Given the description of an element on the screen output the (x, y) to click on. 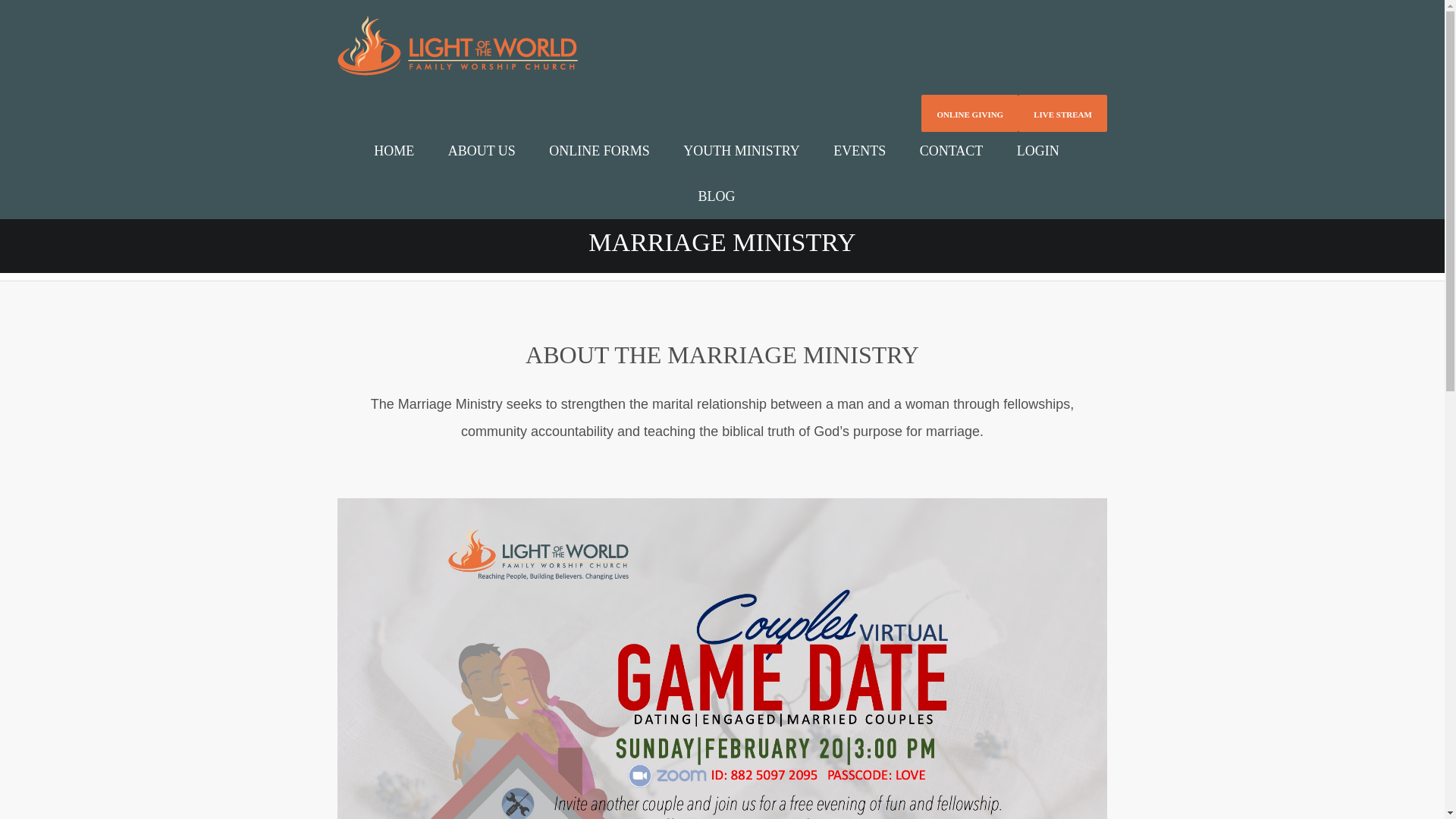
HOME (393, 150)
ABOUT US (481, 150)
YOUTH MINISTRY (741, 150)
CONTACT (951, 150)
Light of the World (457, 43)
EVENTS (859, 150)
BLOG (715, 196)
ONLINE FORMS (599, 150)
LOGIN (1037, 150)
LIVE STREAM (1061, 113)
